Given the description of an element on the screen output the (x, y) to click on. 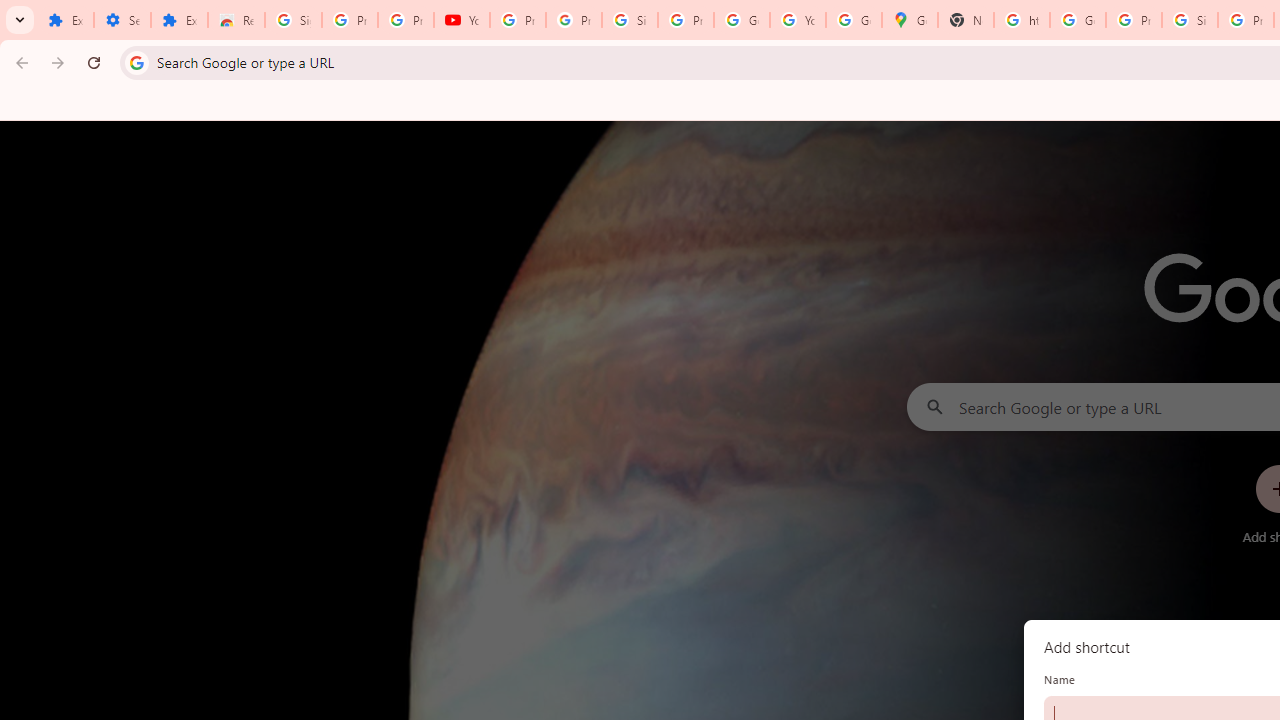
Sign in - Google Accounts (1190, 20)
Google Account (742, 20)
New Tab (966, 20)
Google Maps (909, 20)
https://scholar.google.com/ (1021, 20)
Extensions (65, 20)
Settings (122, 20)
Sign in - Google Accounts (293, 20)
